Given the description of an element on the screen output the (x, y) to click on. 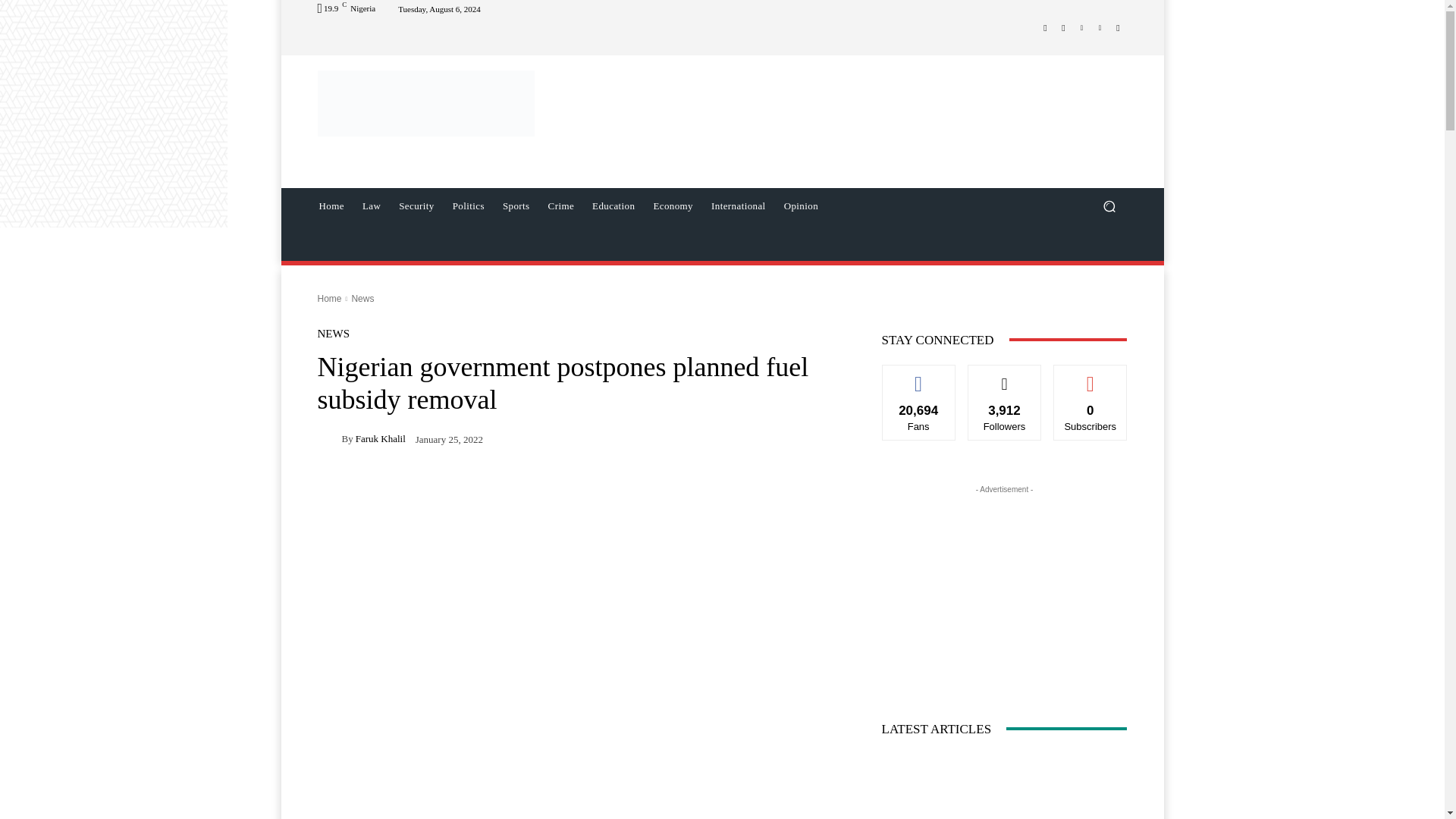
Facebook (1044, 27)
International (737, 206)
Twitter (1080, 27)
Youtube (1117, 27)
Sports (515, 206)
Security (417, 206)
Economy (672, 206)
Law (371, 206)
Education (613, 206)
View all posts in News (362, 298)
Faruk Khalil (328, 437)
Crime (560, 206)
Opinion (800, 206)
Politics (468, 206)
Vimeo (1099, 27)
